Given the description of an element on the screen output the (x, y) to click on. 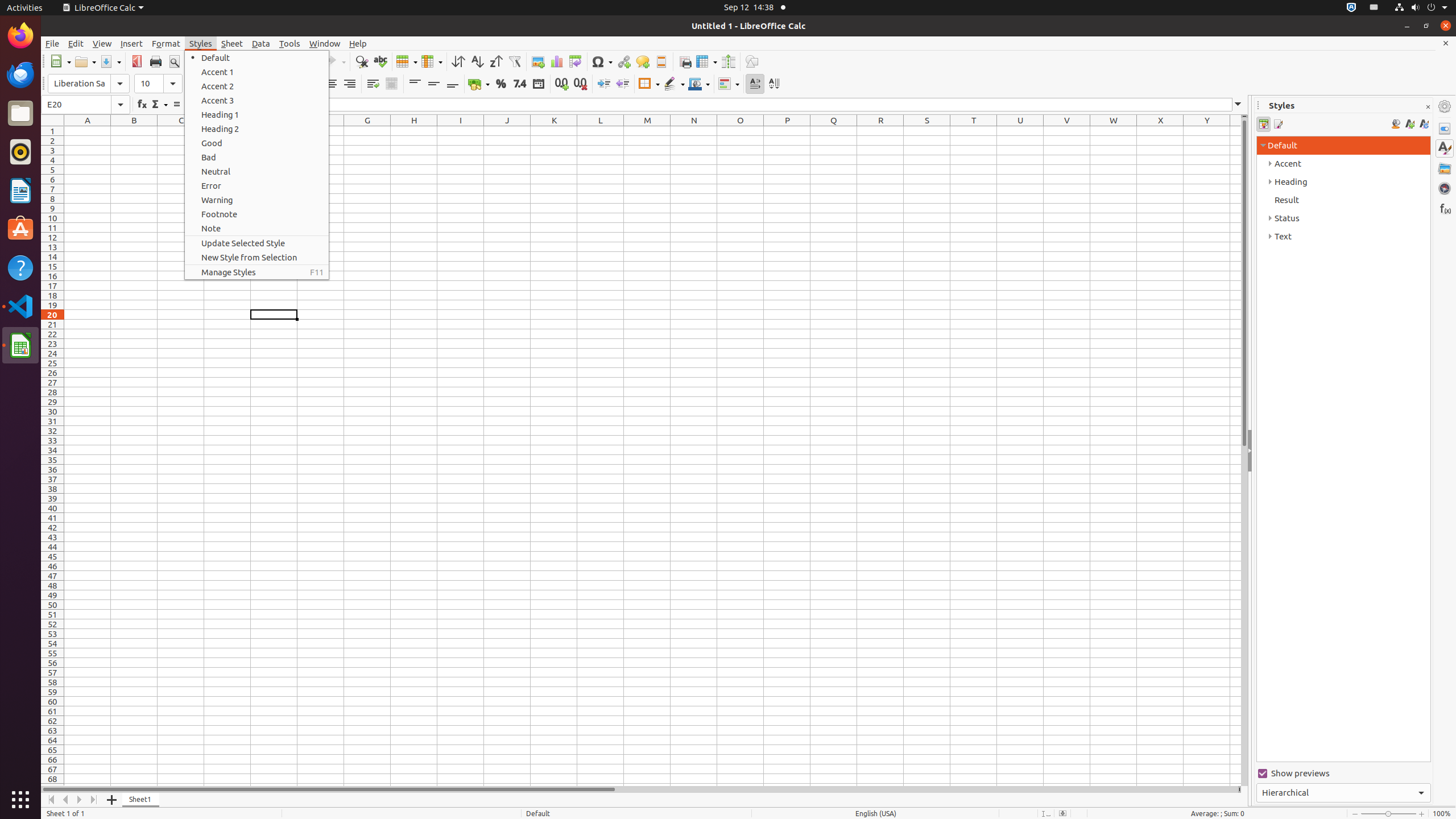
H1 Element type: table-cell (413, 130)
Center Vertically Element type: push-button (433, 83)
I1 Element type: table-cell (460, 130)
P1 Element type: table-cell (786, 130)
K1 Element type: table-cell (553, 130)
